Given the description of an element on the screen output the (x, y) to click on. 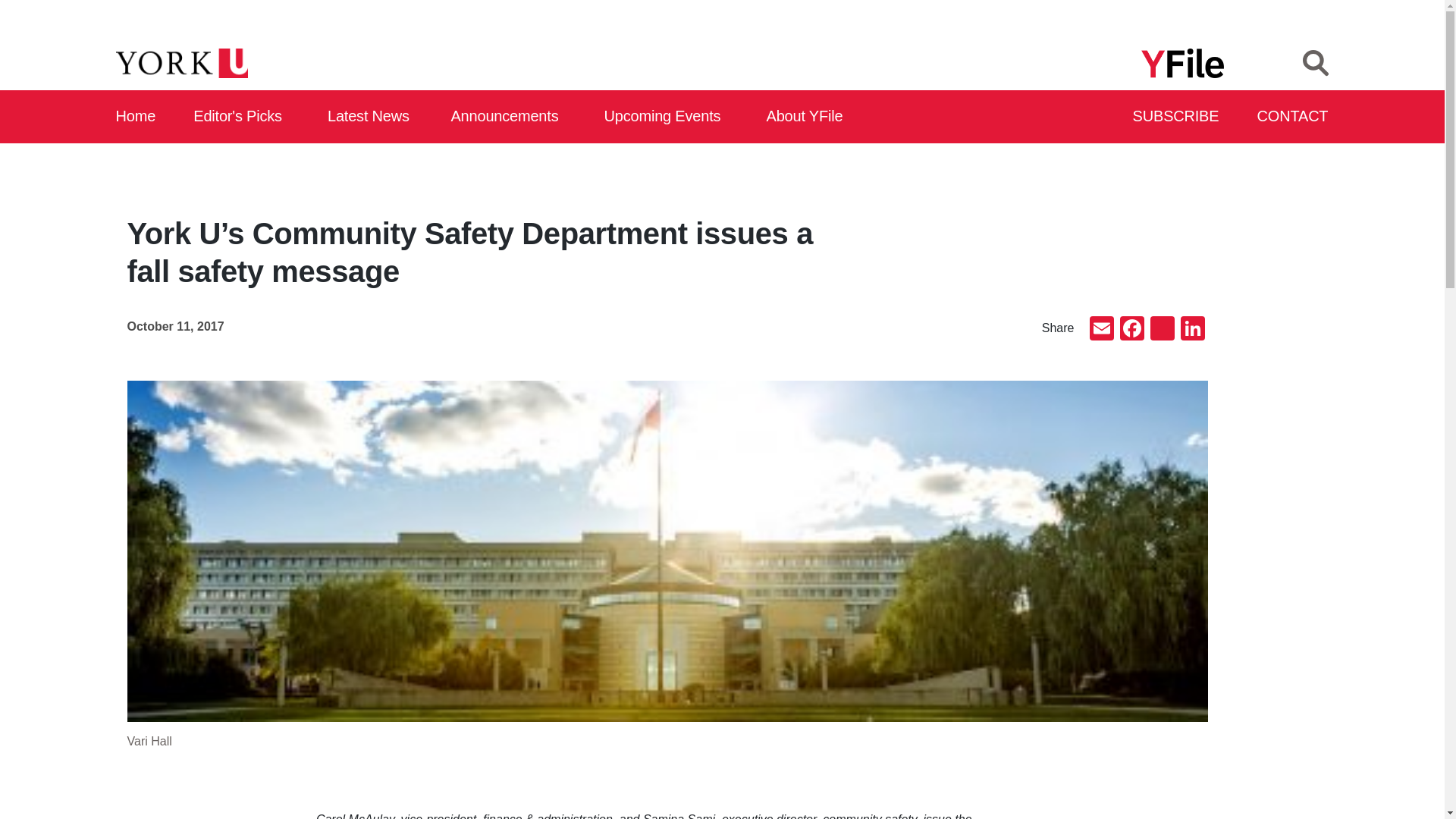
Latest News (370, 116)
Email (1101, 329)
Subscribe (1176, 116)
Contact (1293, 116)
Home (136, 116)
Home (136, 116)
LinkedIn (1191, 329)
Latest News (370, 116)
About YFile (806, 116)
Editor's Picks (242, 116)
